Given the description of an element on the screen output the (x, y) to click on. 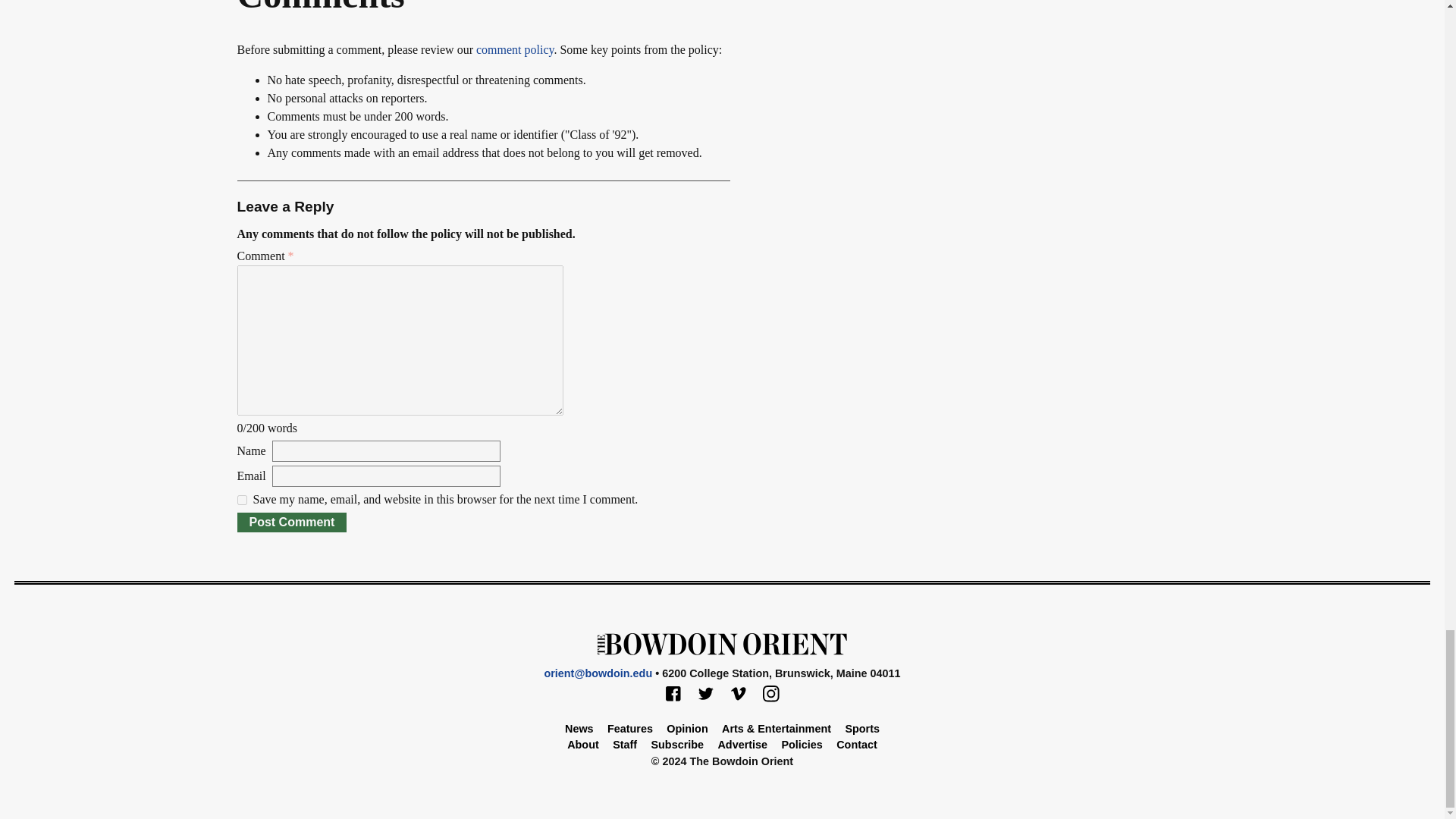
Post Comment (290, 522)
yes (240, 500)
